Given the description of an element on the screen output the (x, y) to click on. 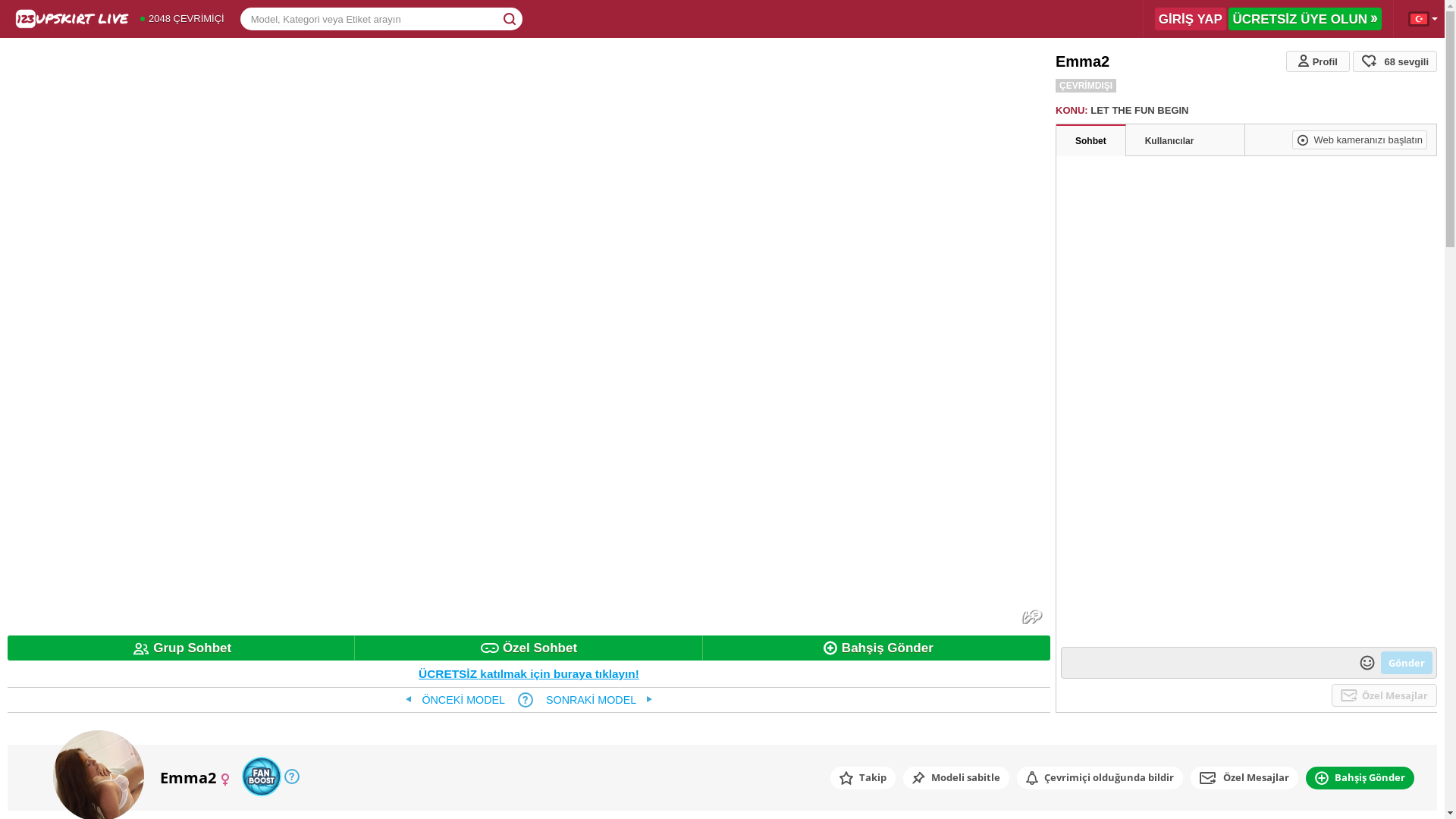
Grup Sohbet Element type: text (180, 647)
Sohbet Element type: text (1090, 140)
SONRAKI MODEL Element type: text (599, 699)
68 sevgili Element type: text (1394, 61)
Profil Element type: text (1317, 61)
